Given the description of an element on the screen output the (x, y) to click on. 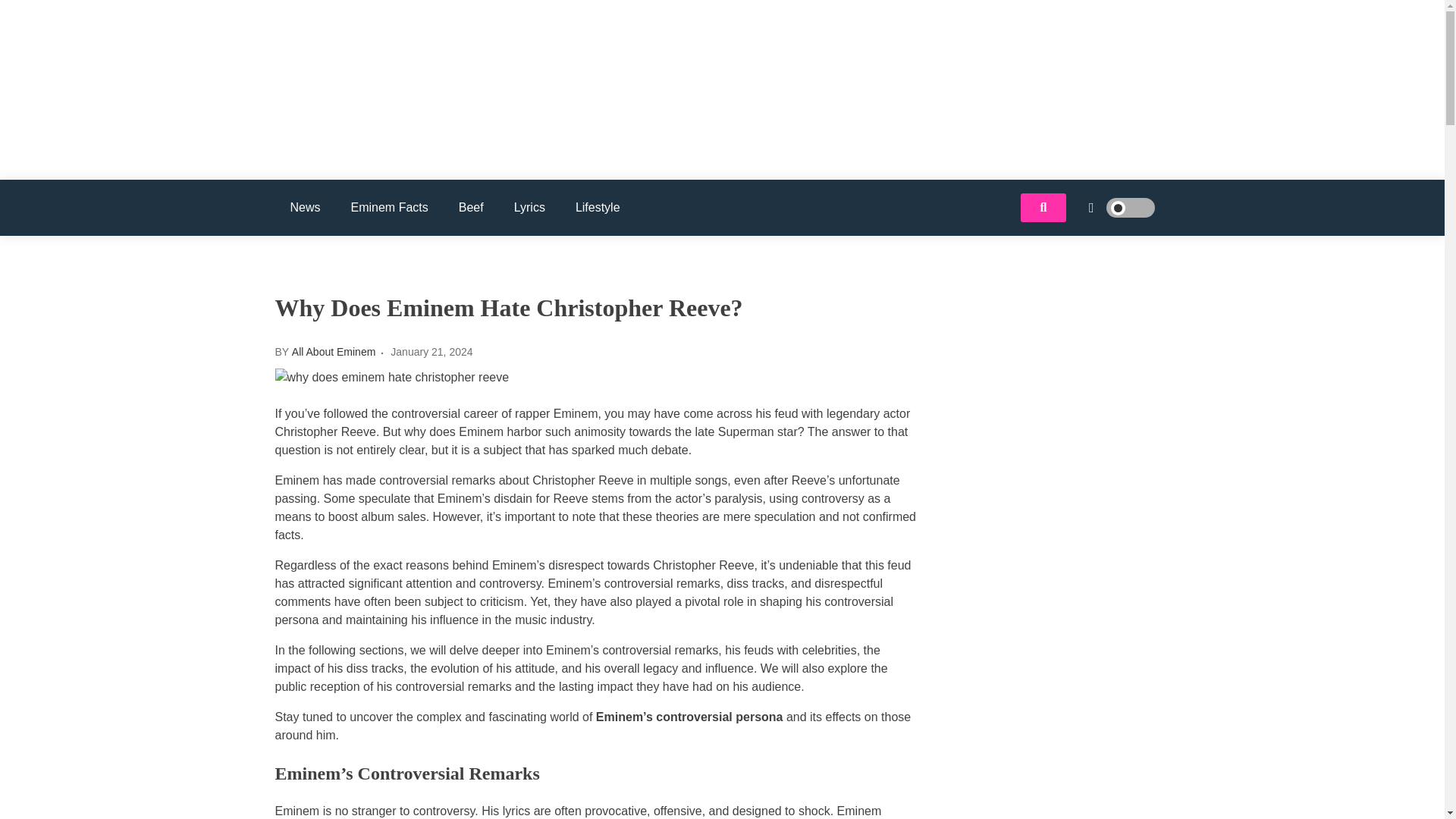
Beef (471, 207)
January 21, 2024 (430, 351)
All About Eminem (333, 351)
All About Eminem (366, 133)
Lyrics (529, 207)
News (304, 207)
Eminem Facts (390, 207)
Lifestyle (597, 207)
